Given the description of an element on the screen output the (x, y) to click on. 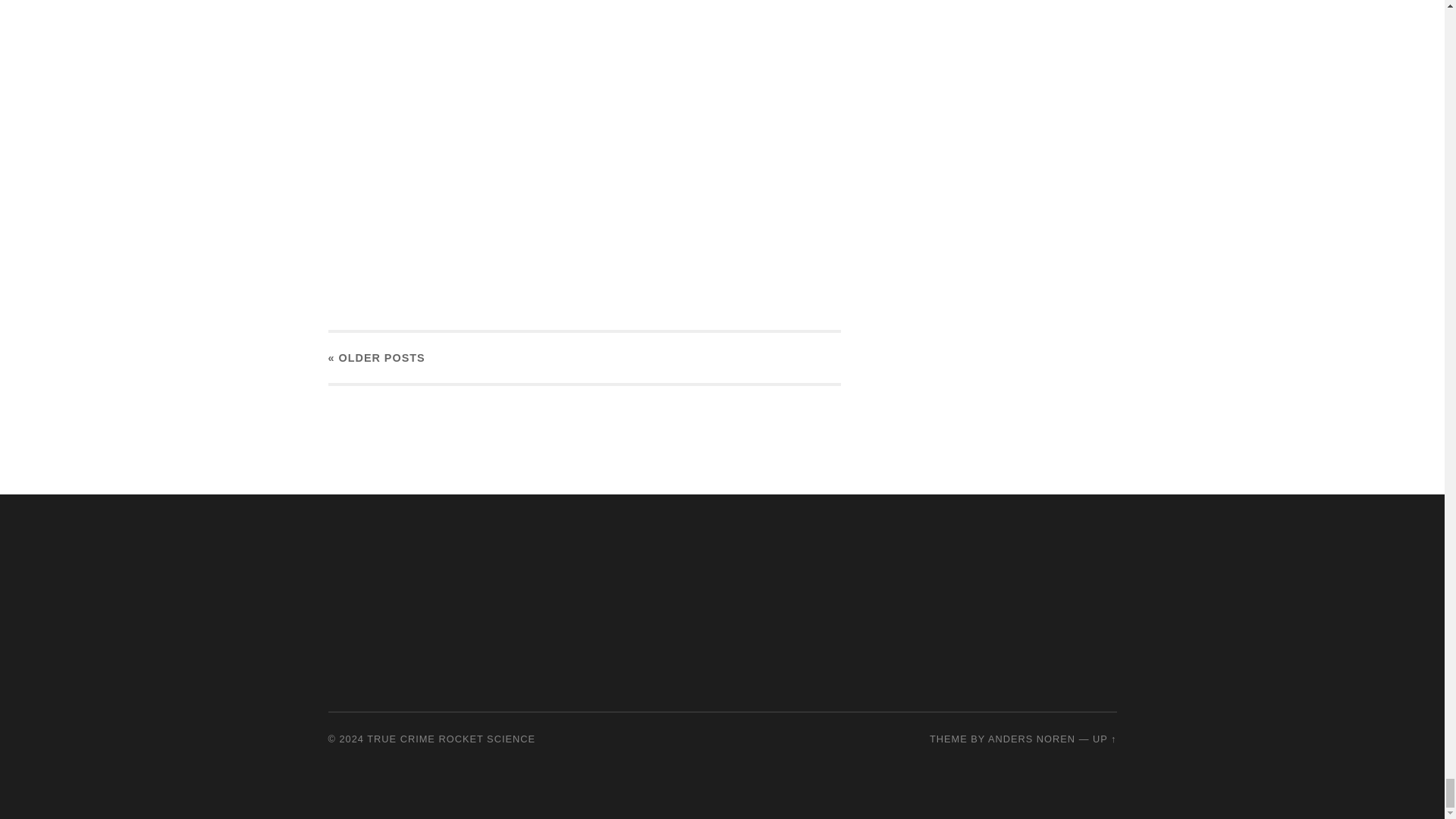
To the top (1104, 738)
